Given the description of an element on the screen output the (x, y) to click on. 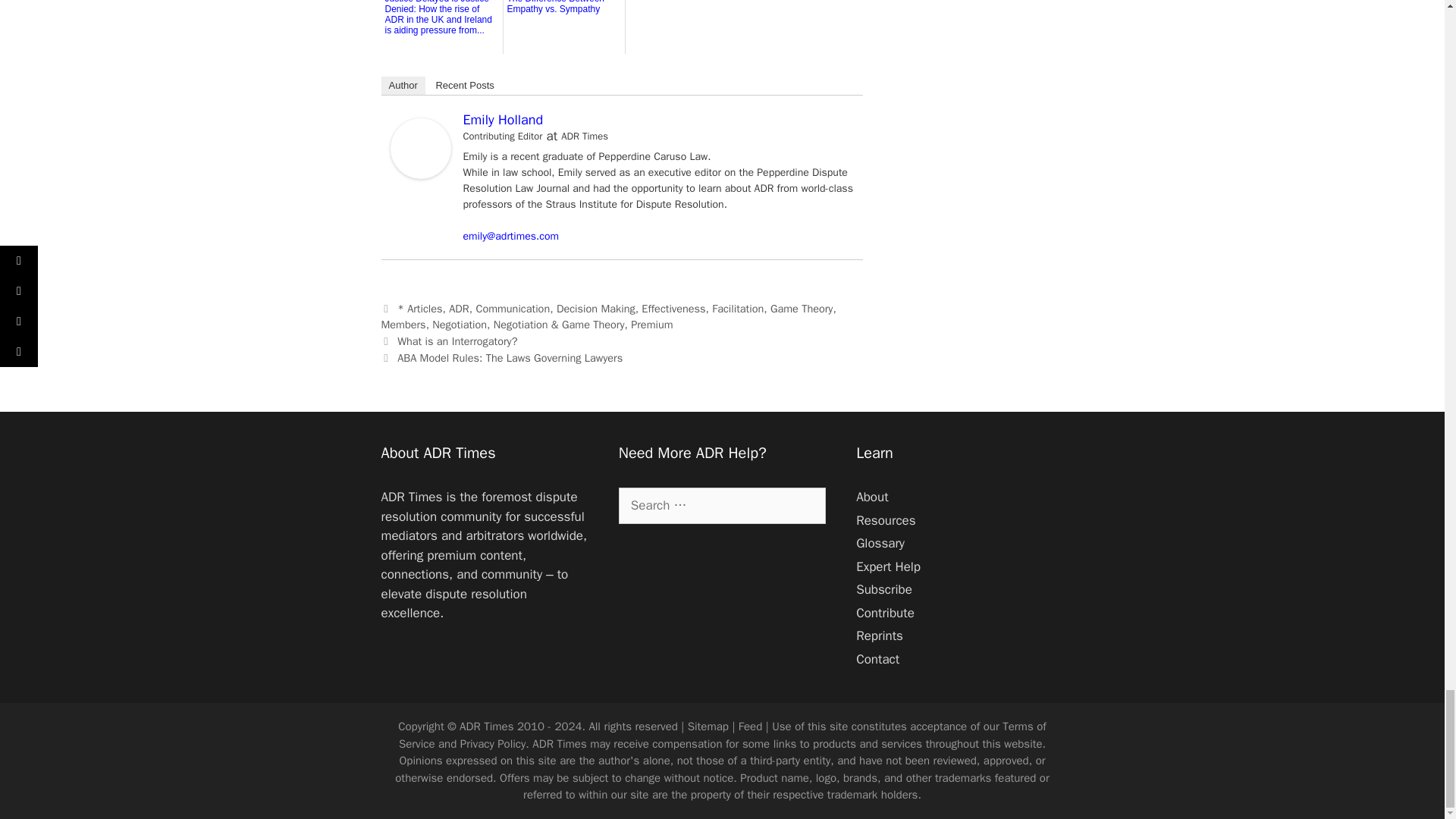
Search for: (721, 505)
Recent Posts (464, 85)
Emily Holland (419, 174)
The Difference Between Empathy vs. Sympathy (563, 24)
Author (402, 85)
ADR (458, 308)
Emily Holland (503, 119)
